Given the description of an element on the screen output the (x, y) to click on. 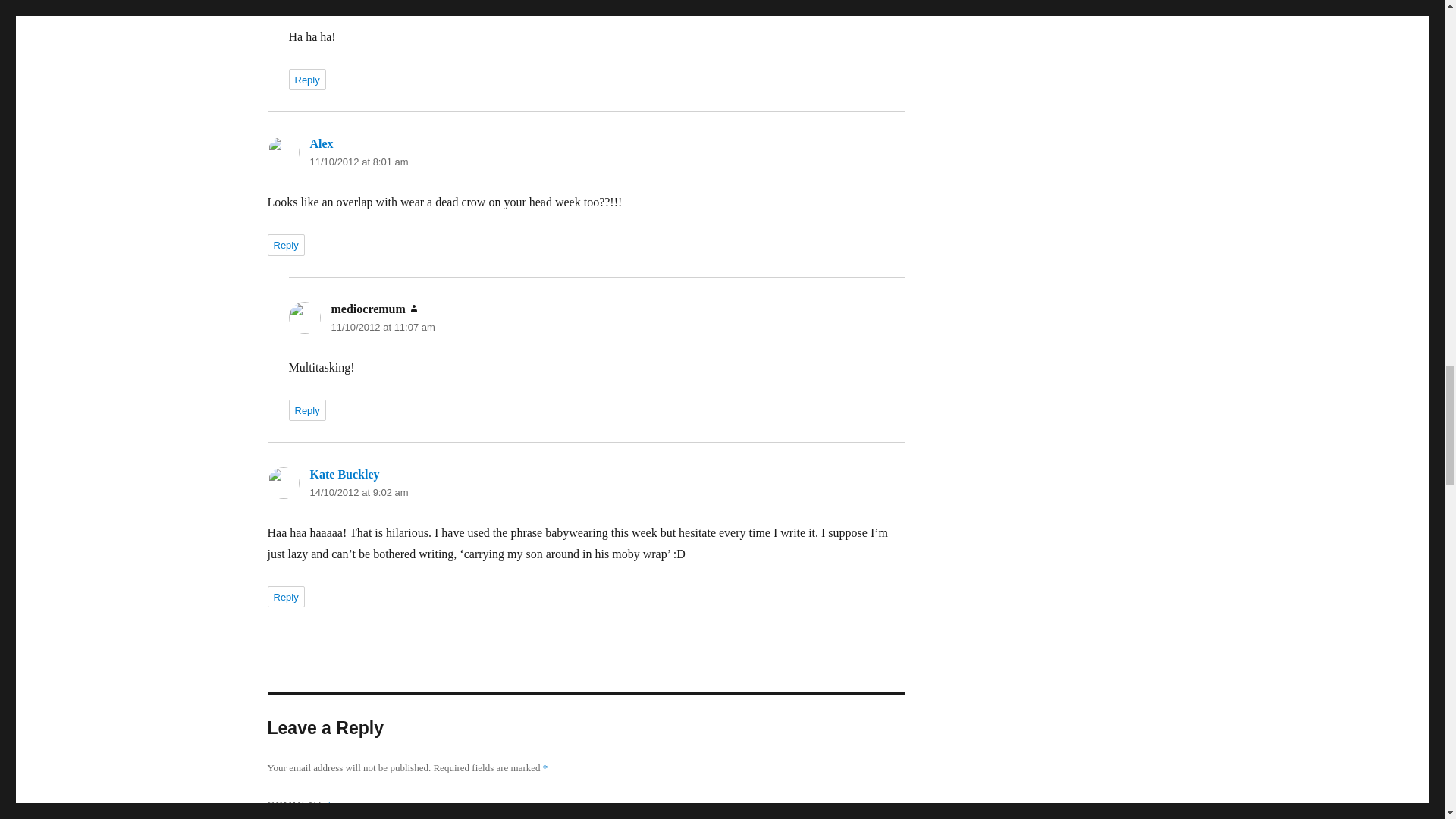
Kate Buckley (343, 473)
Reply (306, 79)
Alex (320, 143)
Reply (285, 244)
Reply (306, 409)
